Given the description of an element on the screen output the (x, y) to click on. 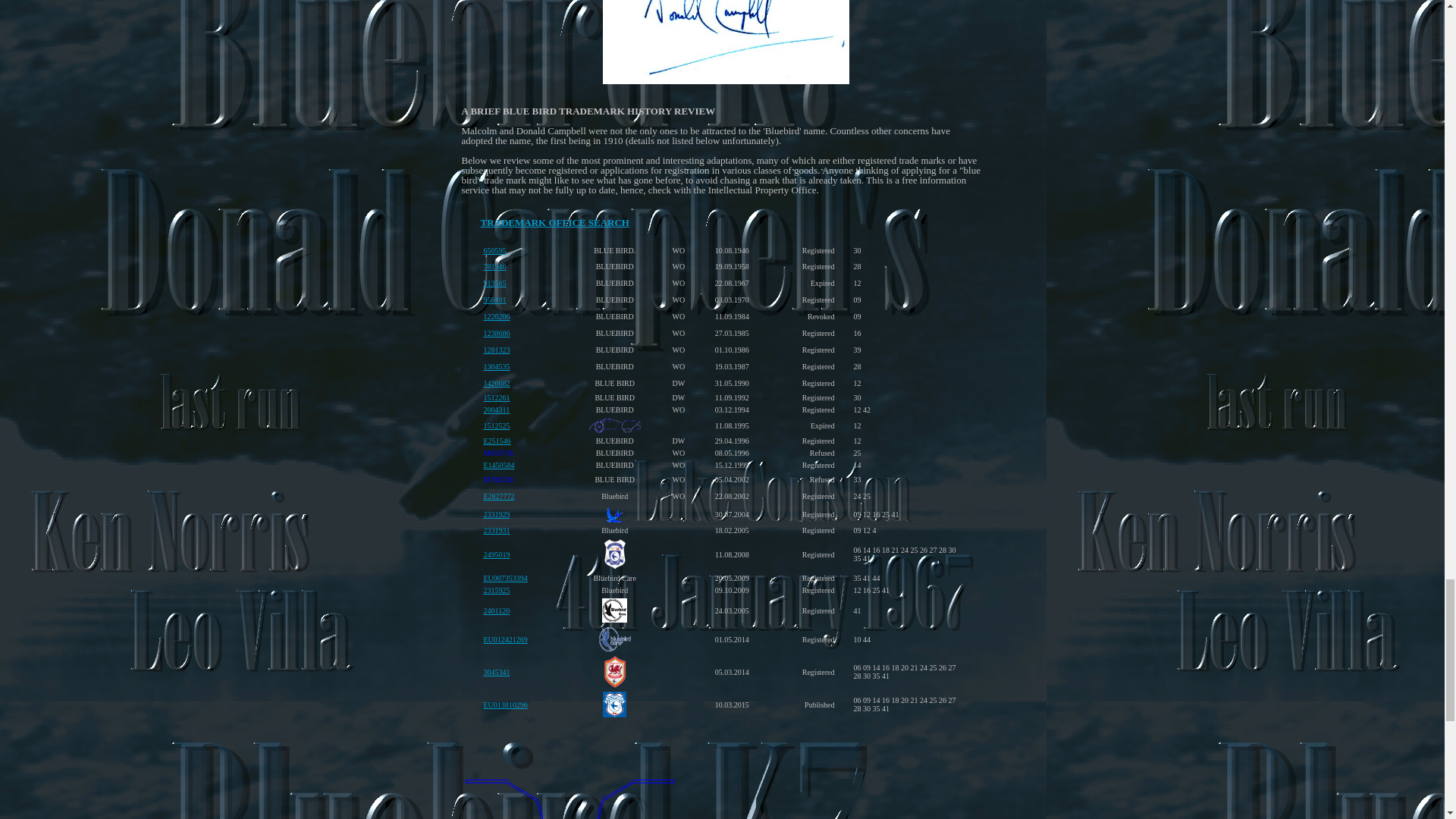
1512525 (497, 422)
1226206 (497, 314)
781946 (494, 264)
650595 (494, 248)
956101 (494, 297)
1304535 (497, 364)
2004311 (497, 408)
1426682 (497, 381)
913565 (494, 281)
1512261 (497, 395)
1238686 (497, 331)
TRADEMARK OFFICE SEARCH (554, 222)
1281323 (497, 348)
